Given the description of an element on the screen output the (x, y) to click on. 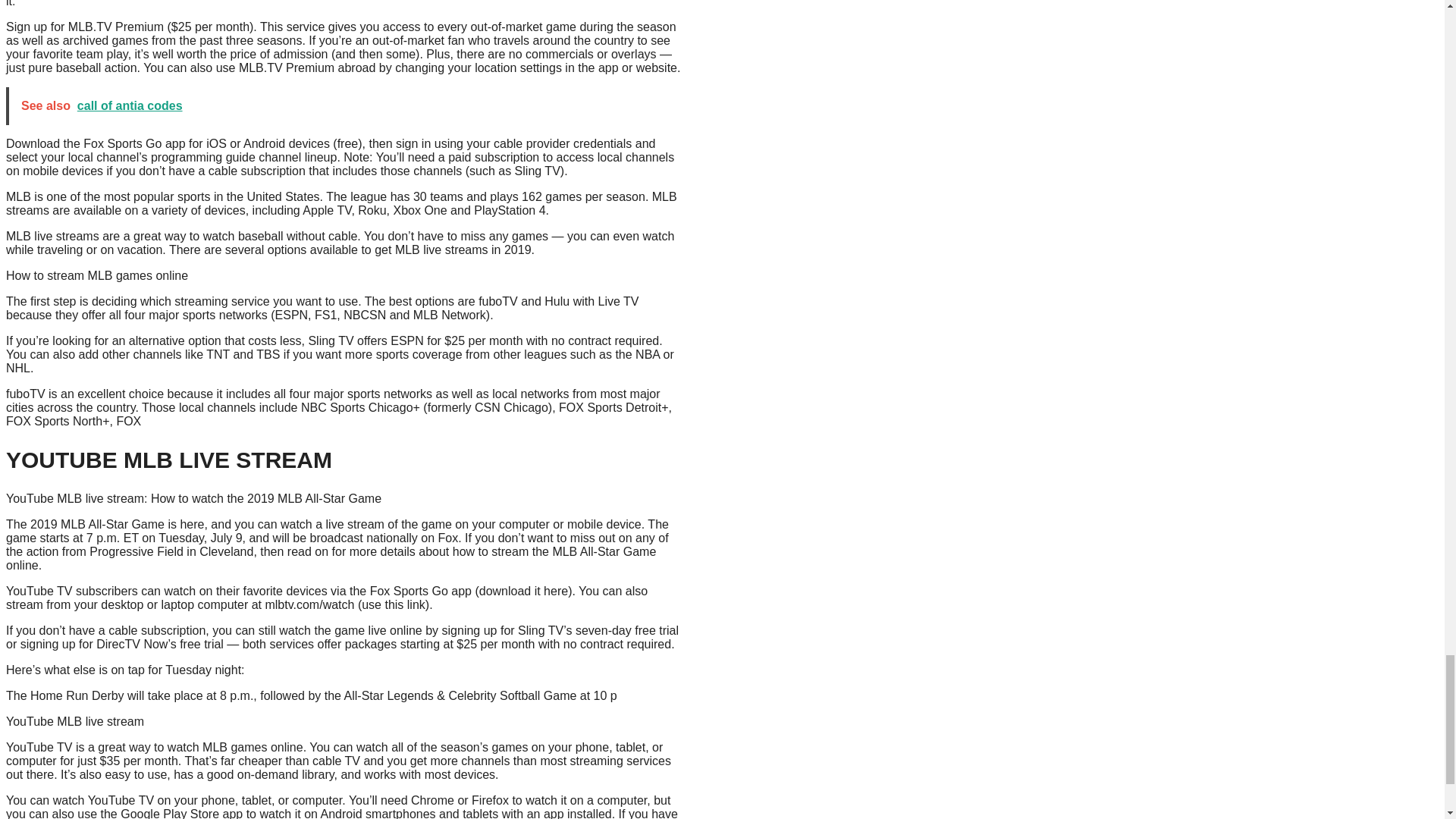
See also  call of antia codes (346, 105)
